Given the description of an element on the screen output the (x, y) to click on. 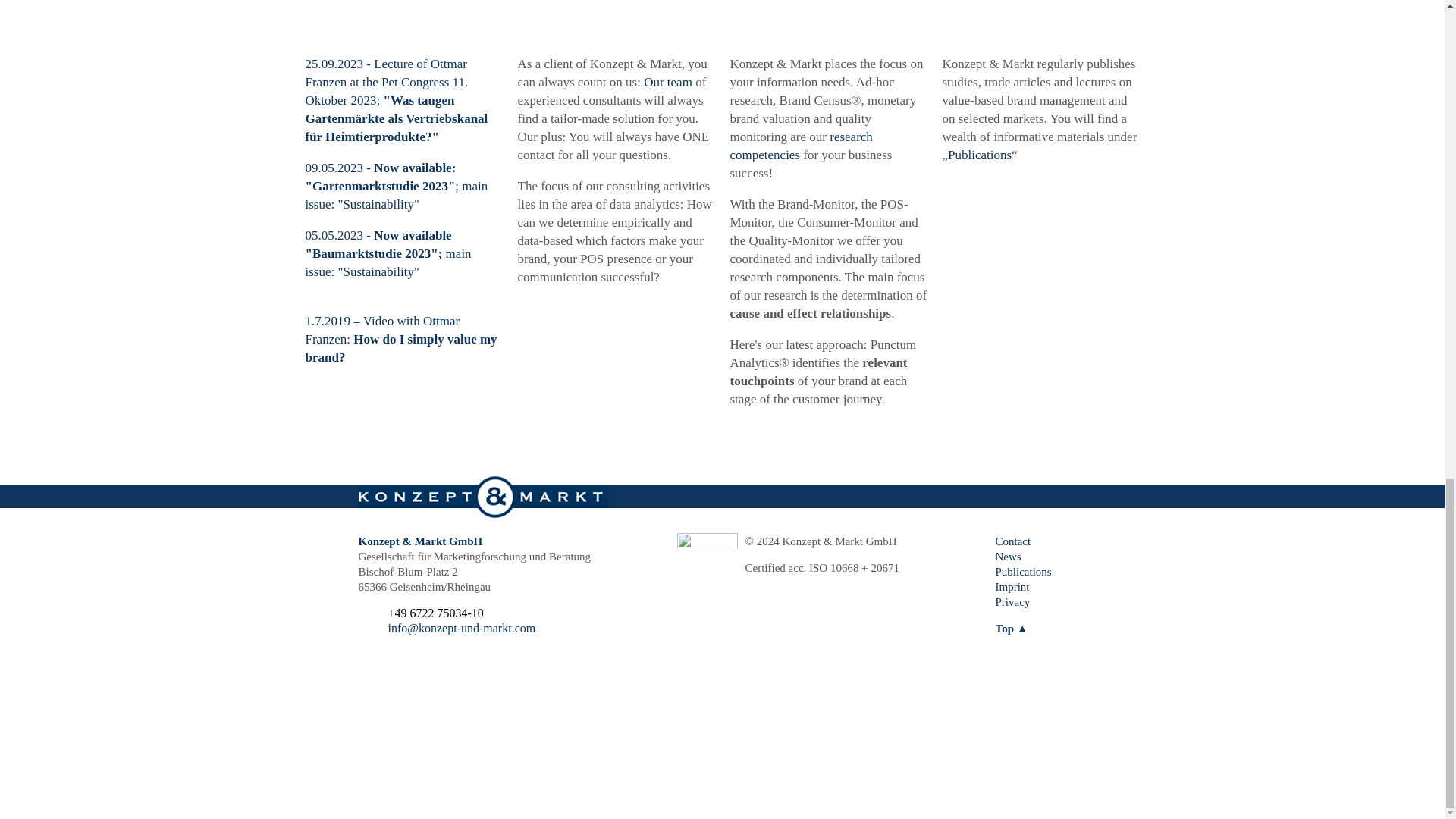
05.05.2023 - Now available "Baumarktstudie 2023"; (377, 244)
"Sustainability" (378, 271)
main issue: (387, 262)
Our team (668, 82)
